Given the description of an element on the screen output the (x, y) to click on. 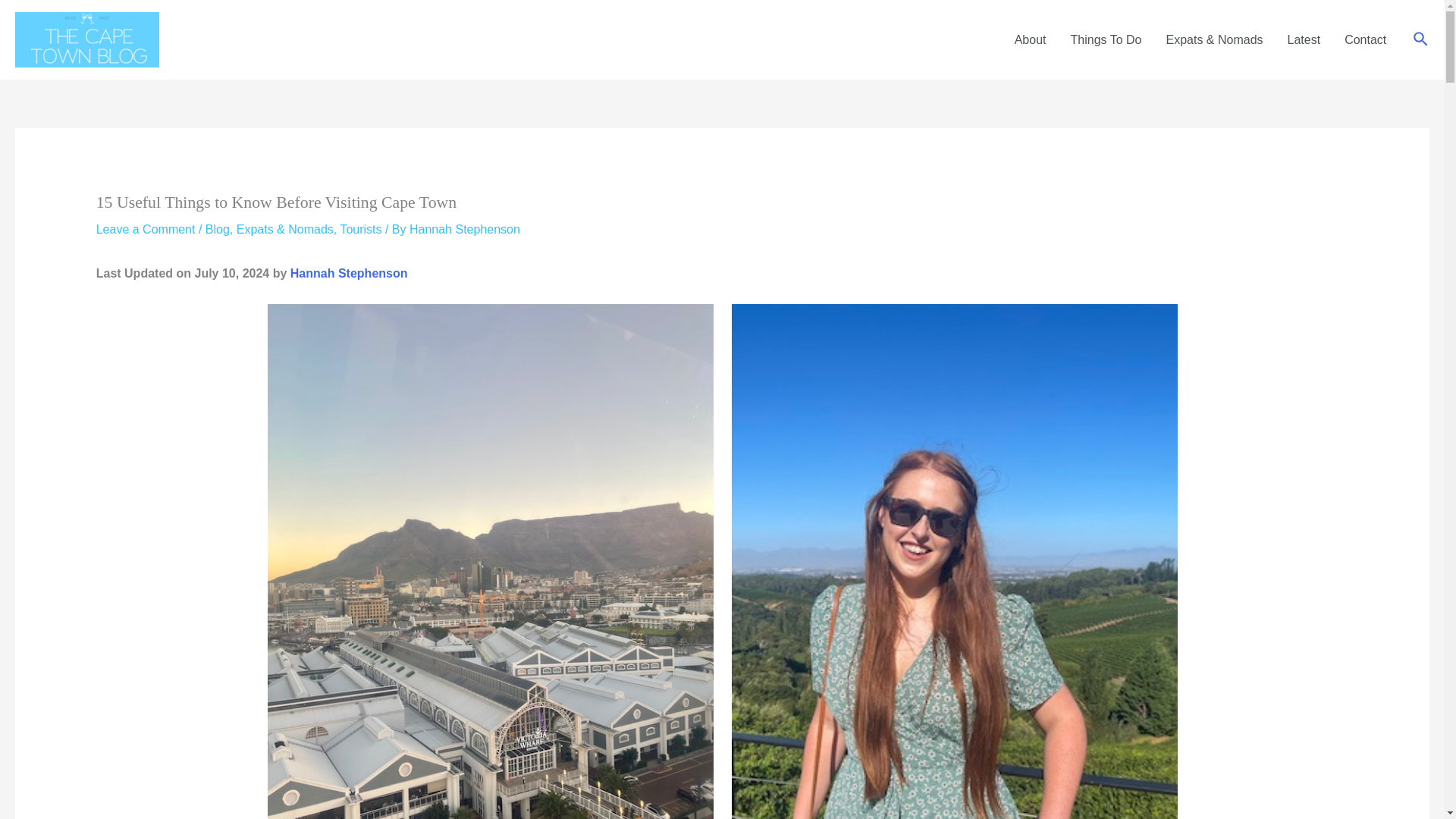
Hannah Stephenson (464, 228)
About (1030, 39)
View all posts by Hannah Stephenson (464, 228)
Hannah Stephenson (348, 273)
Tourists (360, 228)
Leave a Comment (145, 228)
Latest (1304, 39)
Things To Do (1106, 39)
Blog (217, 228)
Contact (1364, 39)
